Given the description of an element on the screen output the (x, y) to click on. 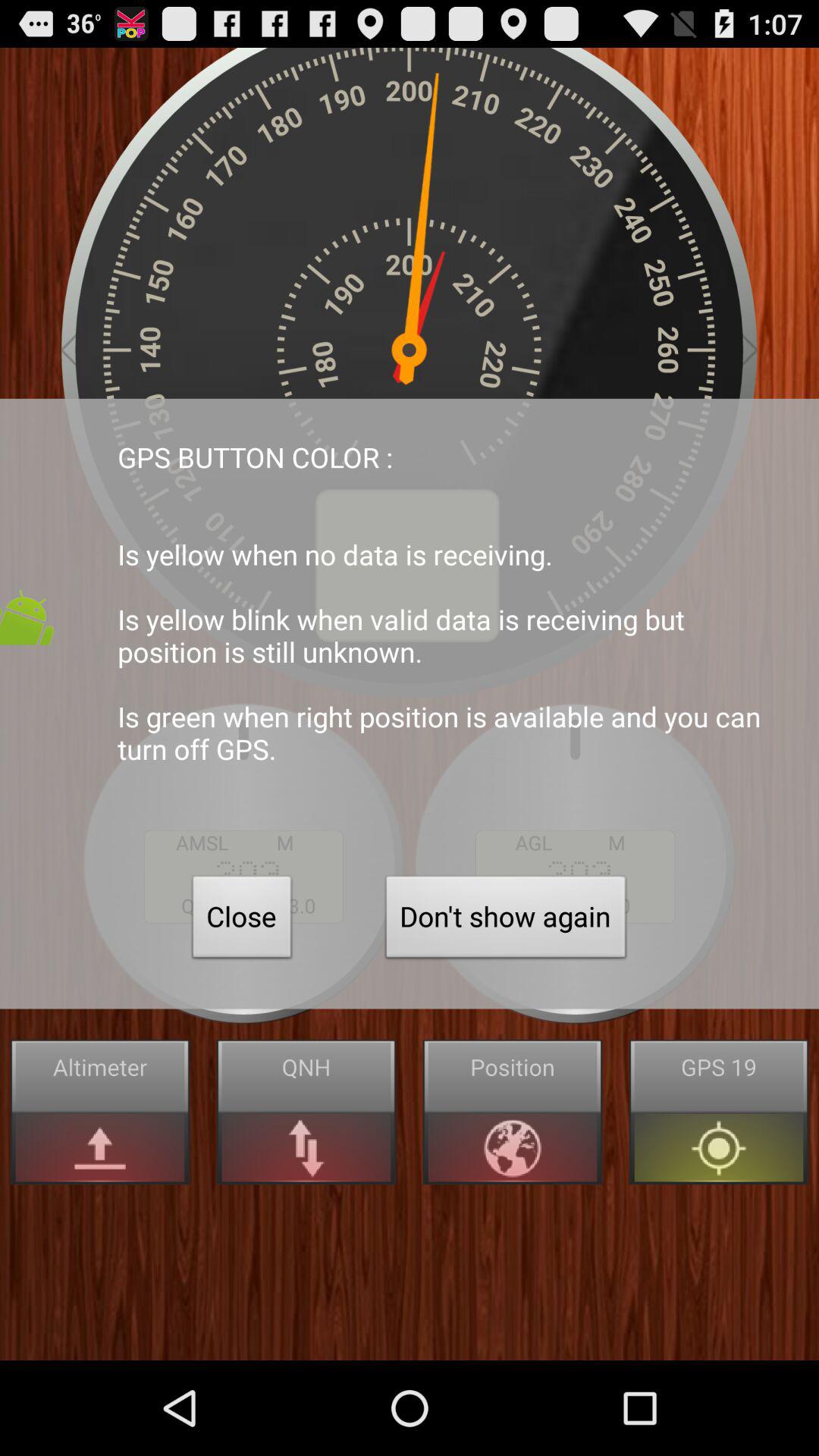
flip until don t show (505, 921)
